Given the description of an element on the screen output the (x, y) to click on. 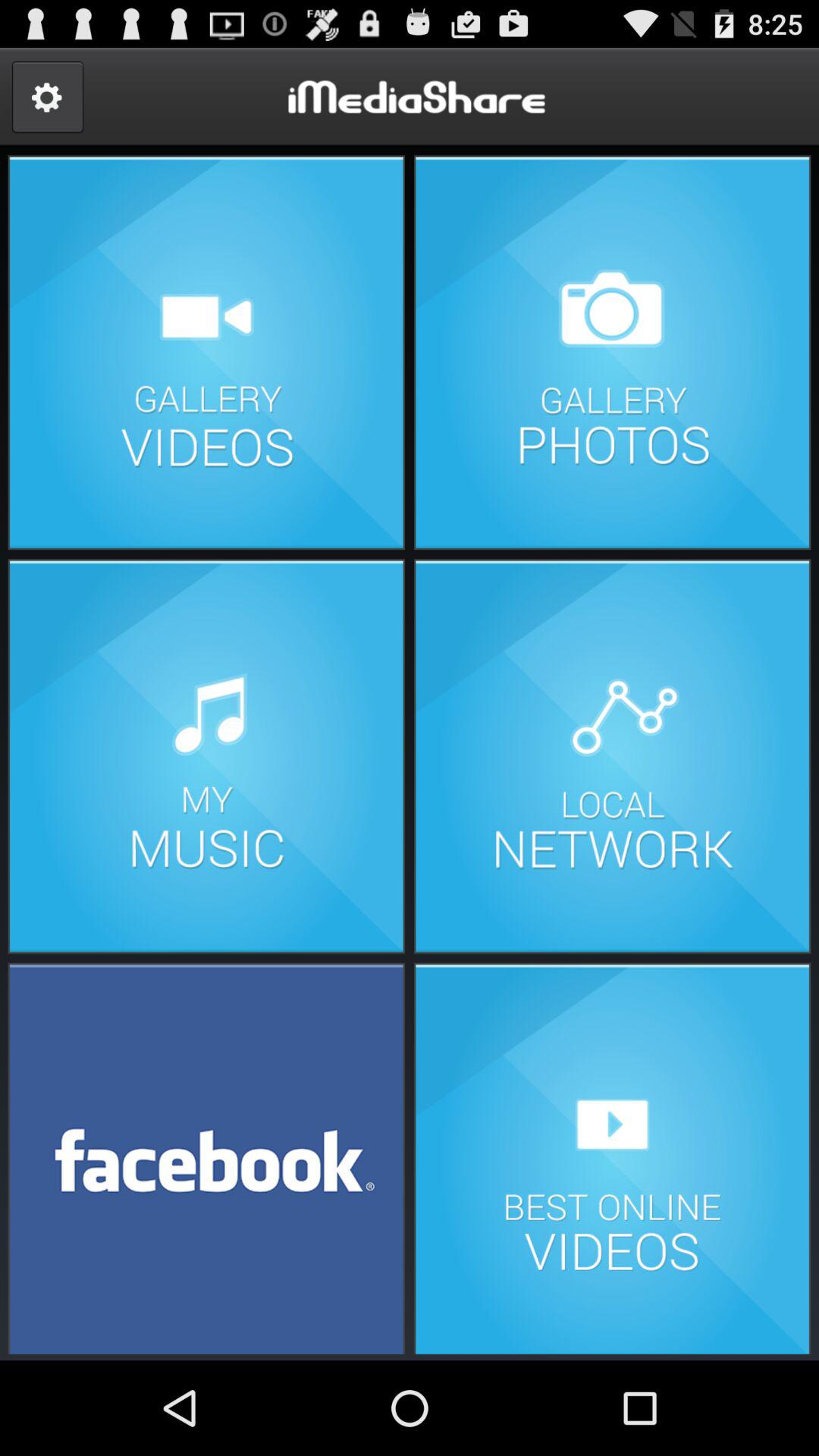
go to videos (206, 352)
